Given the description of an element on the screen output the (x, y) to click on. 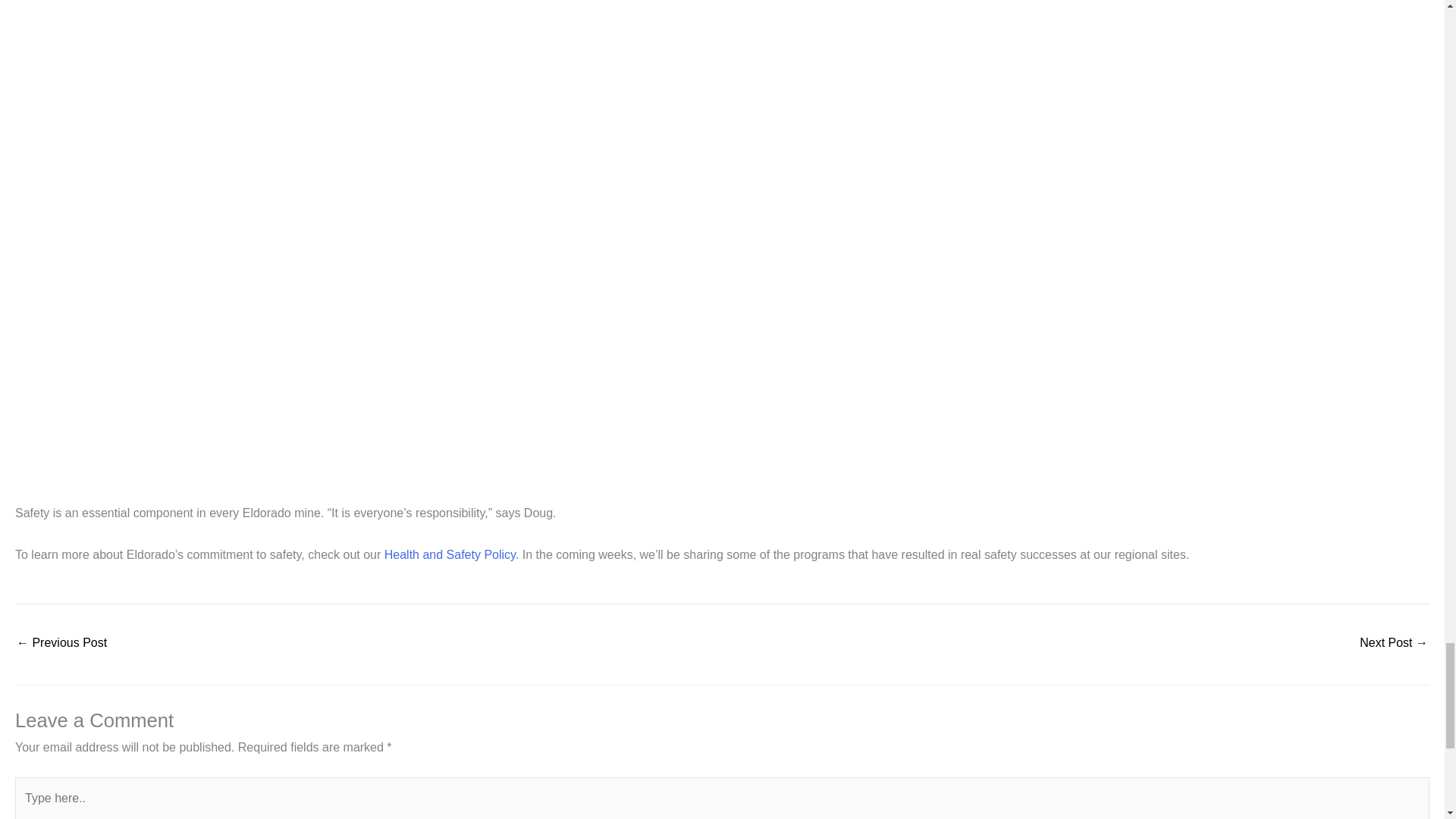
A No-nonsense Approach to Health and Safety (1393, 643)
Health and Safety Policy (449, 554)
Cyanide Certification: How Our Gold Mines Get It Right (61, 643)
